Given the description of an element on the screen output the (x, y) to click on. 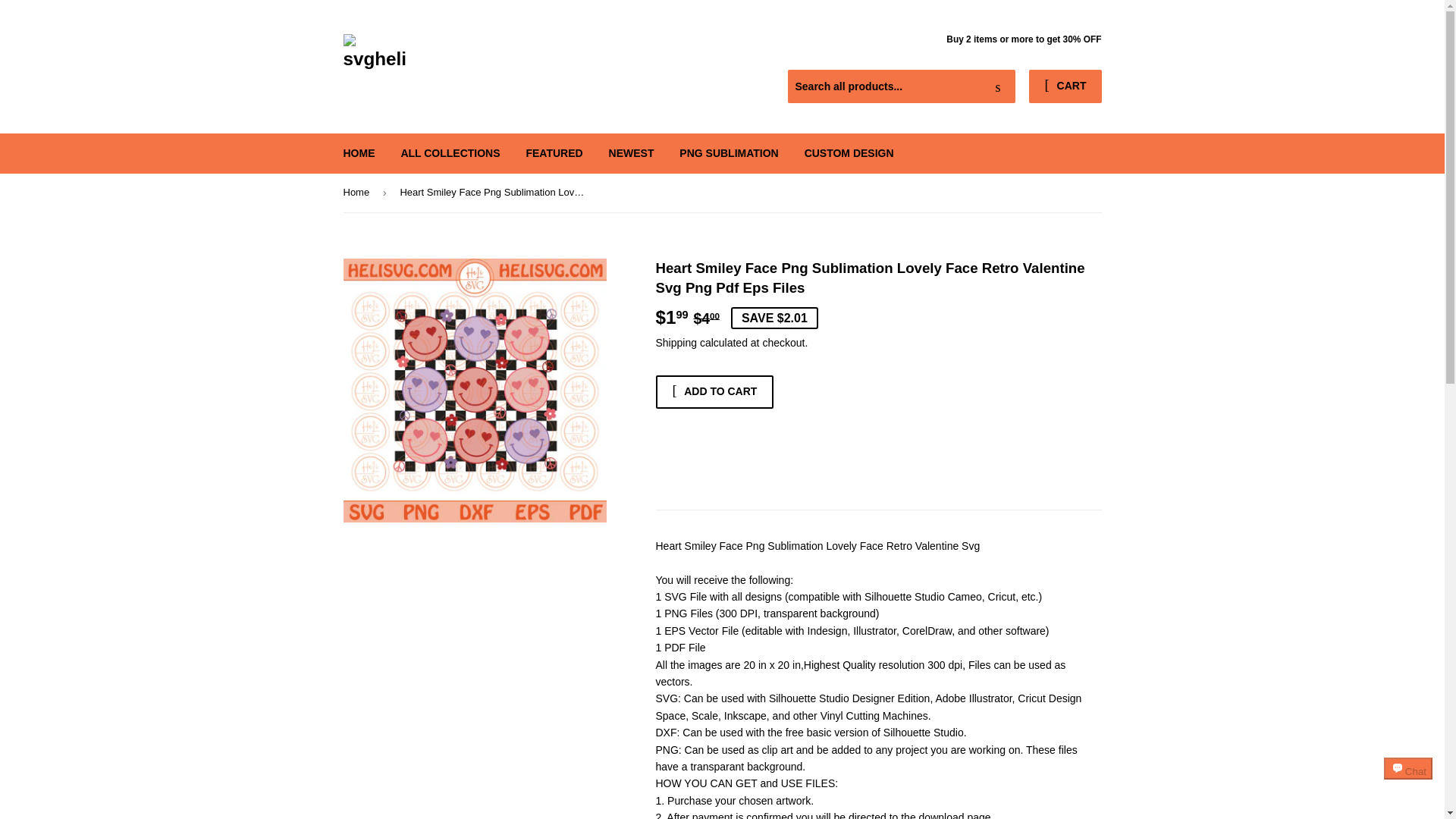
CUSTOM DESIGN (849, 152)
PNG SUBLIMATION (728, 152)
CART (1064, 86)
Shipping (676, 342)
ALL COLLECTIONS (449, 152)
FEATURED (553, 152)
Search (997, 87)
ADD TO CART (714, 390)
Shopify online store chat (1408, 781)
NEWEST (630, 152)
HOME (359, 152)
